Given the description of an element on the screen output the (x, y) to click on. 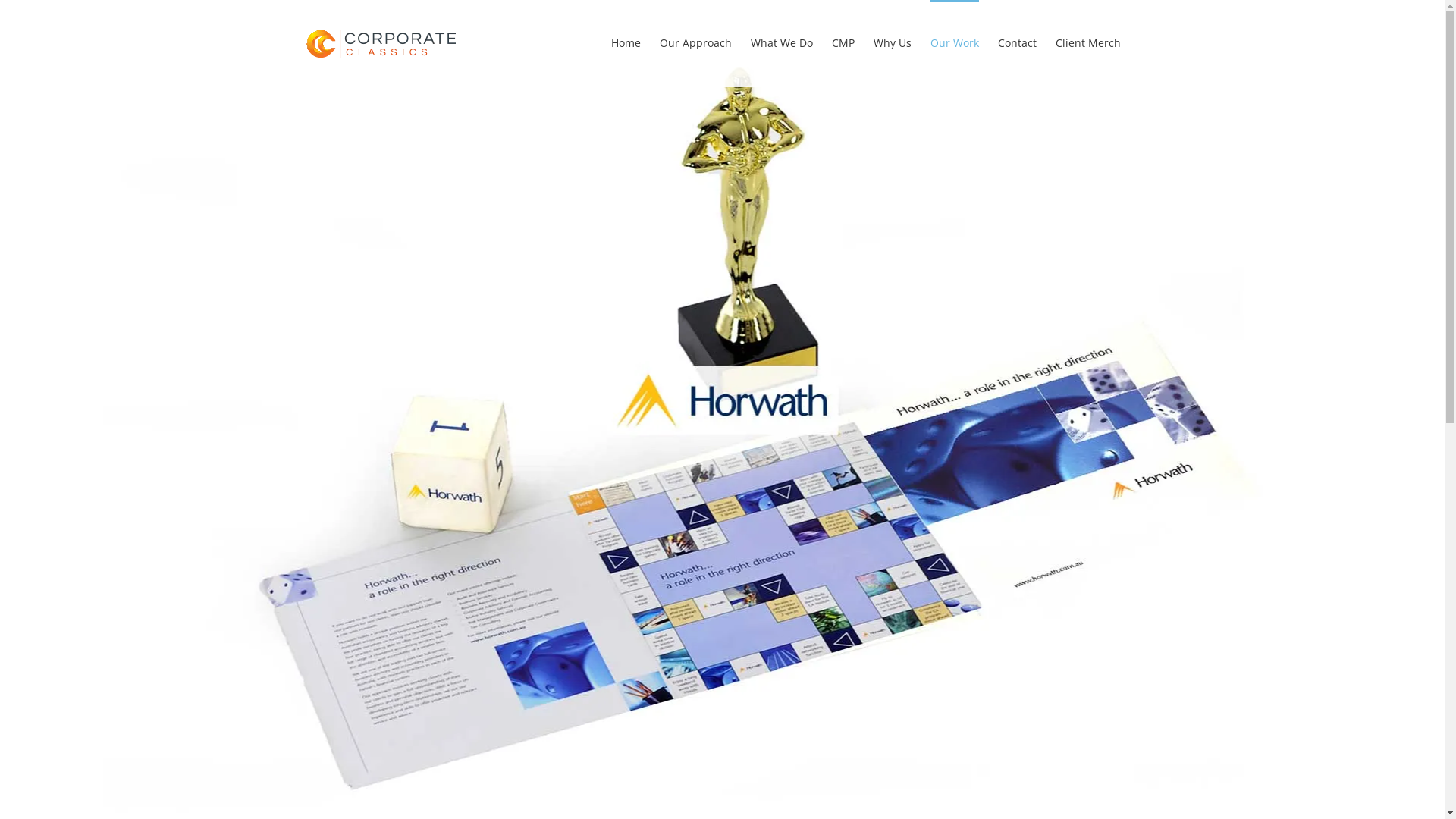
Why Us Element type: text (892, 41)
CMP Element type: text (842, 41)
Home Element type: text (625, 41)
Contact Element type: text (1016, 41)
Our Approach Element type: text (695, 41)
Our Work Element type: text (953, 41)
Client Merch Element type: text (1087, 41)
What We Do Element type: text (781, 41)
